Given the description of an element on the screen output the (x, y) to click on. 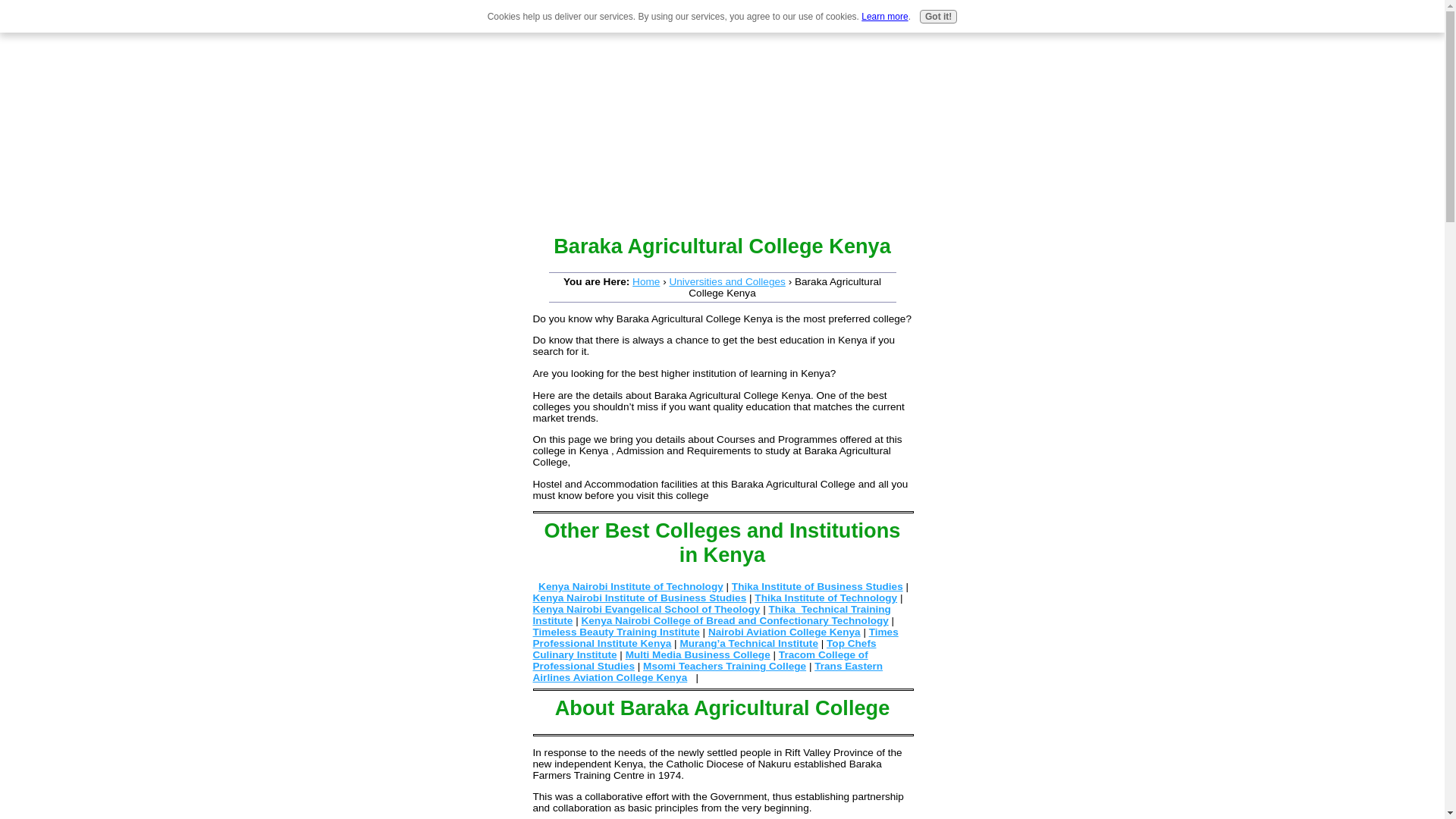
Home (645, 281)
Trans Eastern Airlines Aviation College Kenya (707, 671)
Times Professional Institute Kenya (715, 637)
Got it! (938, 16)
Multi Media Business College (698, 654)
Thika Institute of Technology (825, 597)
Nairobi Aviation College Kenya (783, 632)
Kenya Nairobi Evangelical School of Theology (646, 609)
Msomi Teachers Training College (724, 665)
Kenya Nairobi College of Bread and Confectionary Technology (734, 620)
